Given the description of an element on the screen output the (x, y) to click on. 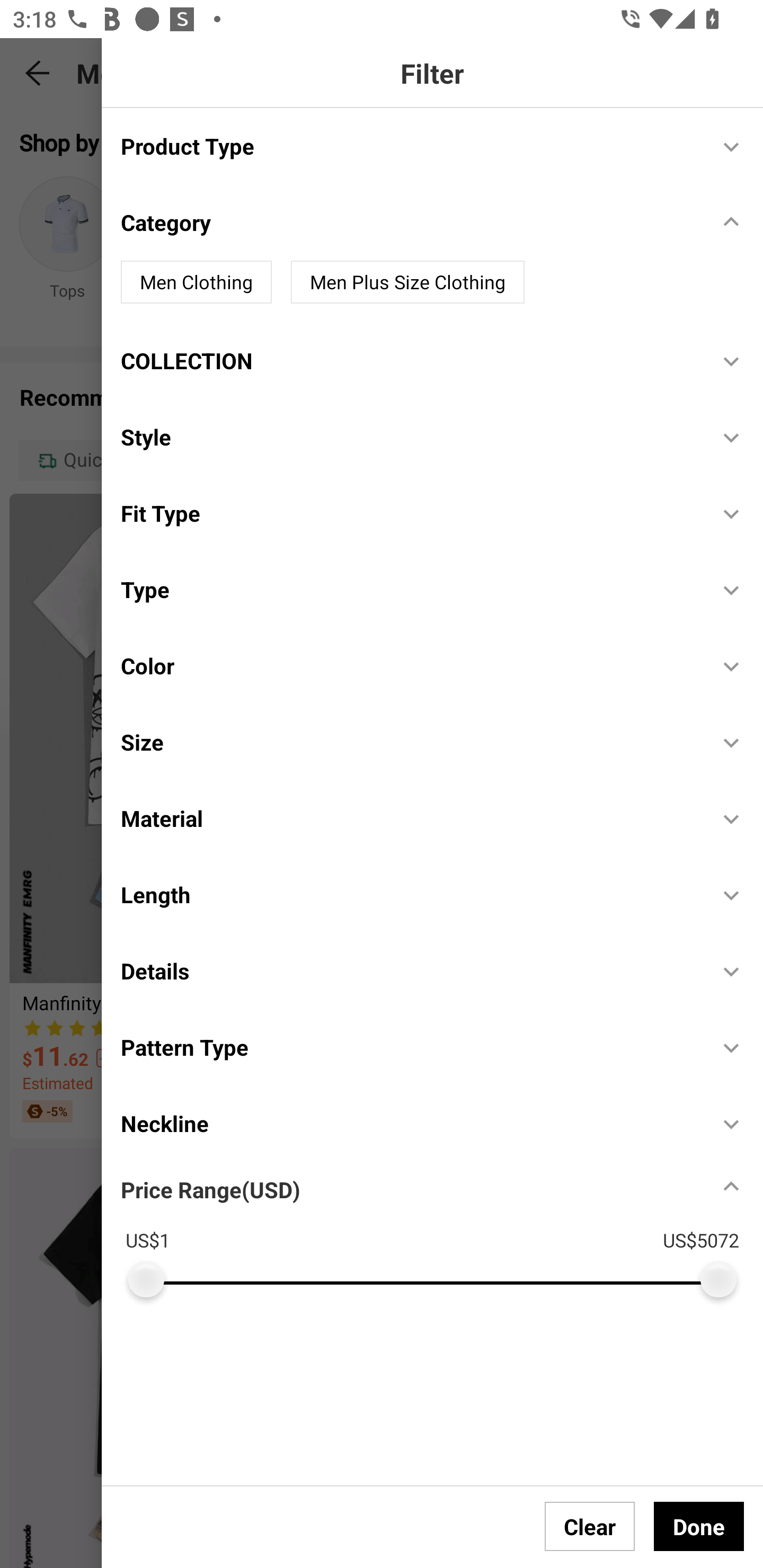
Product Type (409, 145)
Category (409, 222)
Men Clothing (195, 282)
Men Plus Size Clothing (407, 282)
COLLECTION (409, 360)
Style (409, 437)
Fit Type (409, 513)
Type (409, 589)
Color (409, 665)
Size (409, 741)
Material (409, 818)
Length (409, 894)
Details (409, 970)
Pattern Type (409, 1047)
Neckline (409, 1123)
Price Range(USD) US$1 US$5072 (441, 1229)
Price Range(USD) (210, 1189)
Clear (589, 1526)
Done (698, 1526)
